Given the description of an element on the screen output the (x, y) to click on. 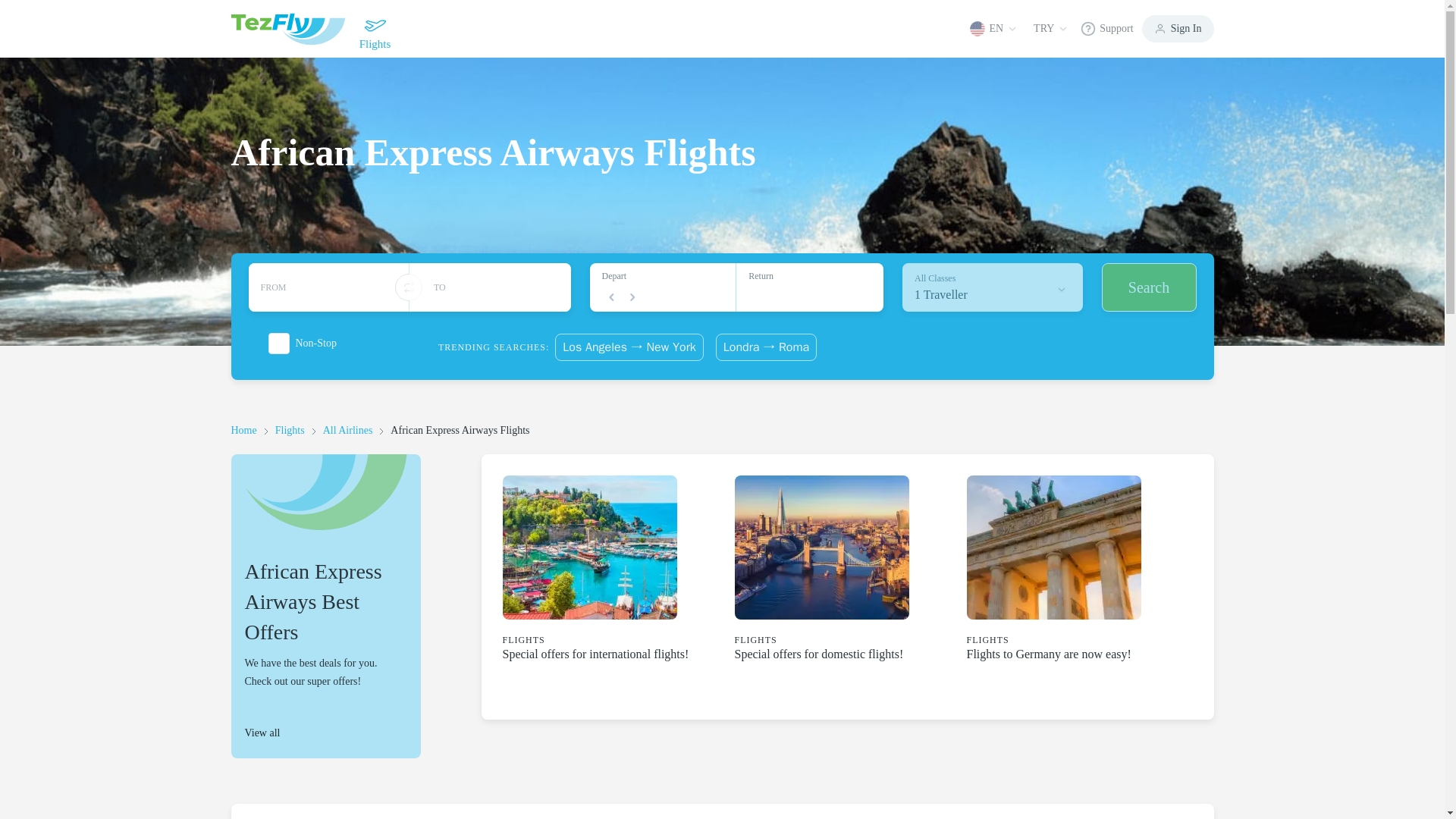
Flights to Germany are now easy! (1048, 653)
Support (1106, 28)
TRY (1050, 28)
Search (1147, 287)
EN (995, 28)
Special offers for domestic flights! (817, 653)
Home (243, 430)
All Airlines (992, 287)
View all (347, 430)
Flights (325, 733)
Flights (373, 28)
Special offers for international flights! (289, 430)
TO (595, 653)
FROM (489, 287)
